Given the description of an element on the screen output the (x, y) to click on. 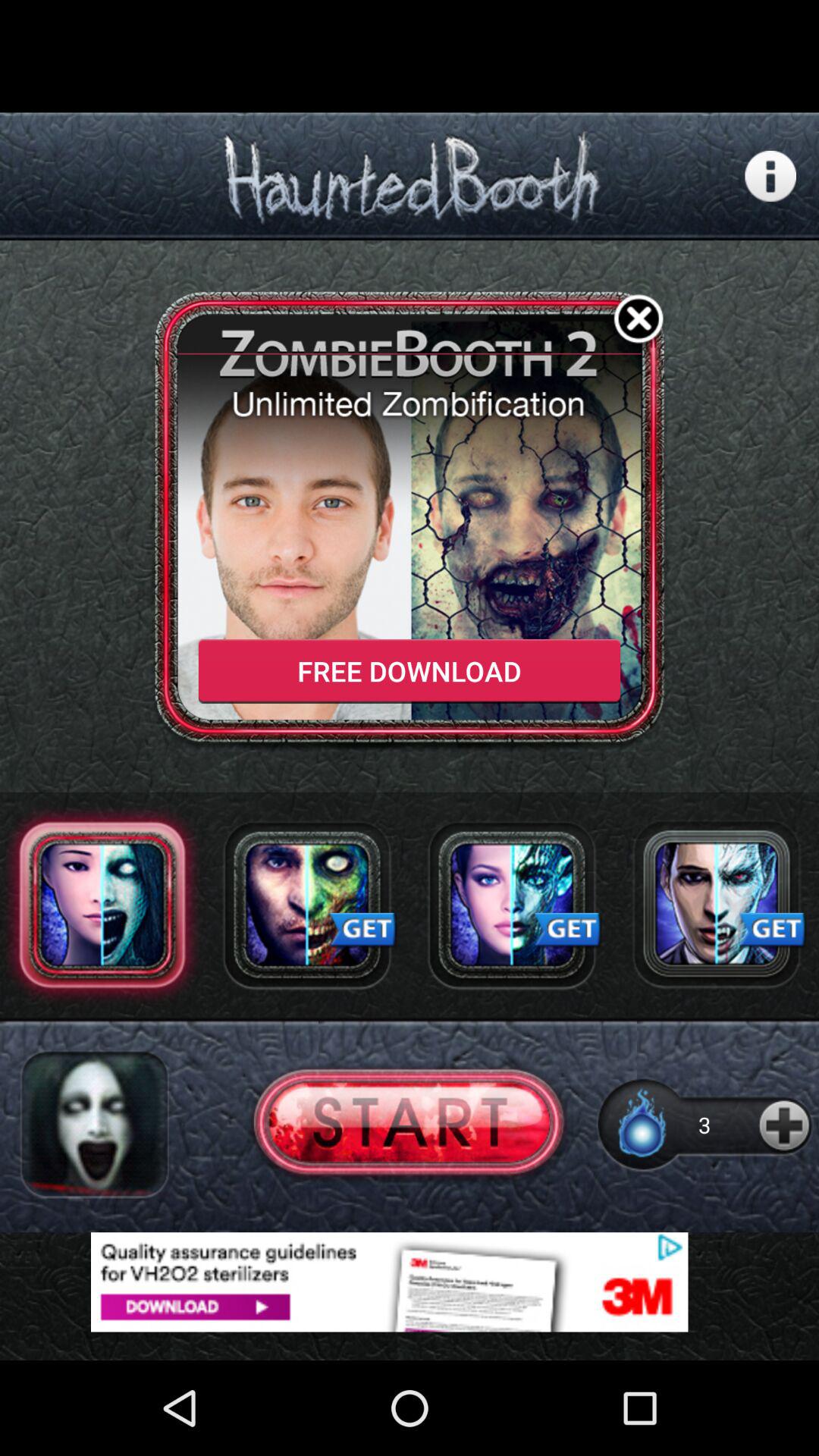
pop-up advertisement (409, 1282)
